Given the description of an element on the screen output the (x, y) to click on. 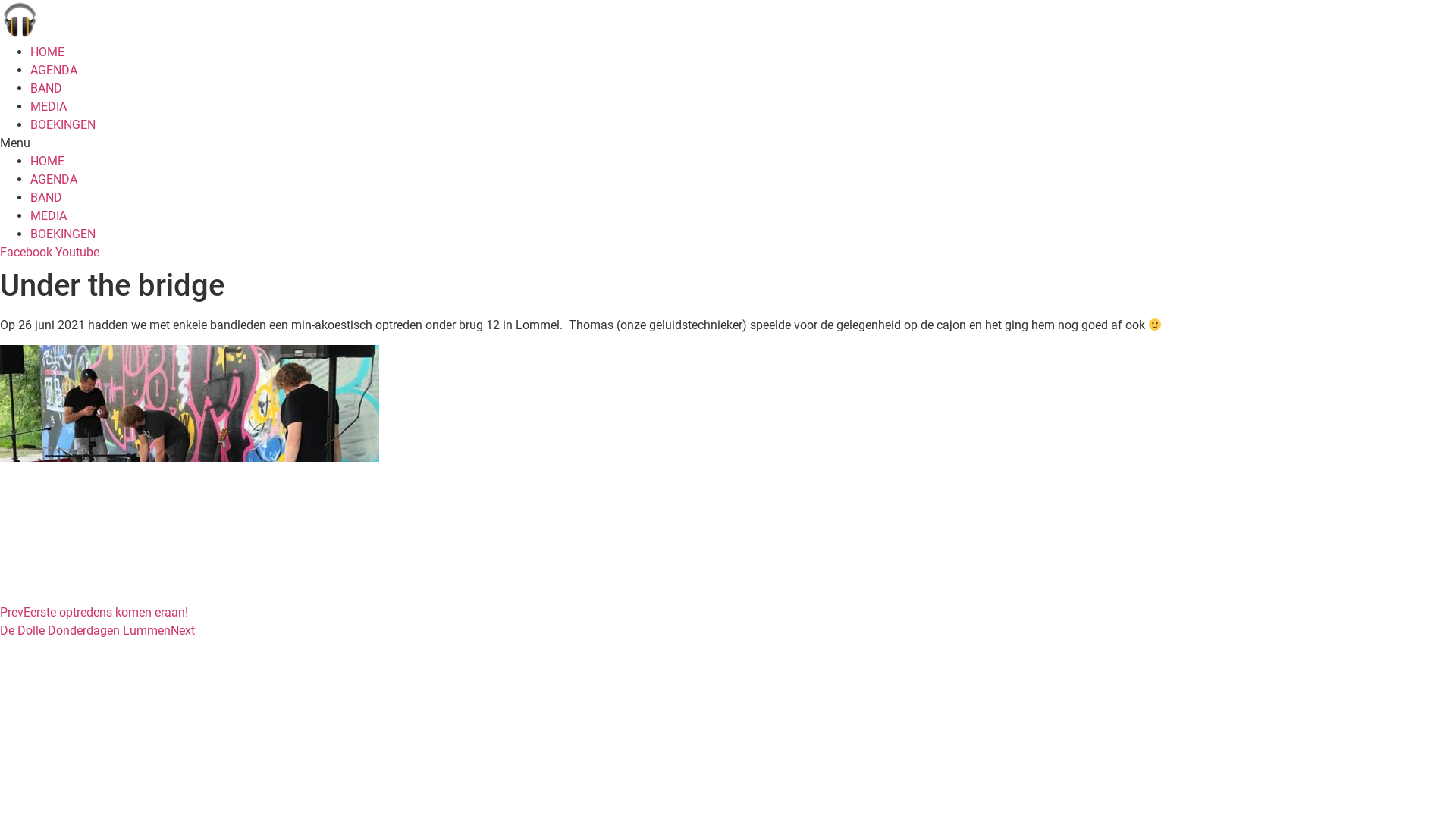
De Dolle Donderdagen LummenNext Element type: text (97, 630)
PrevEerste optredens komen eraan! Element type: text (94, 612)
brug1 Element type: hover (189, 471)
MEDIA Element type: text (48, 215)
HOME Element type: text (47, 160)
ccrevivalsgtpepper_LOGO Element type: hover (18, 18)
AGENDA Element type: text (53, 179)
Facebook Element type: text (27, 251)
BOEKINGEN Element type: text (62, 124)
Youtube Element type: text (77, 251)
AGENDA Element type: text (53, 69)
HOME Element type: text (47, 51)
BAND Element type: text (46, 197)
BOEKINGEN Element type: text (62, 233)
BAND Element type: text (46, 88)
WiThService.be Element type: text (116, 648)
MEDIA Element type: text (48, 106)
